Given the description of an element on the screen output the (x, y) to click on. 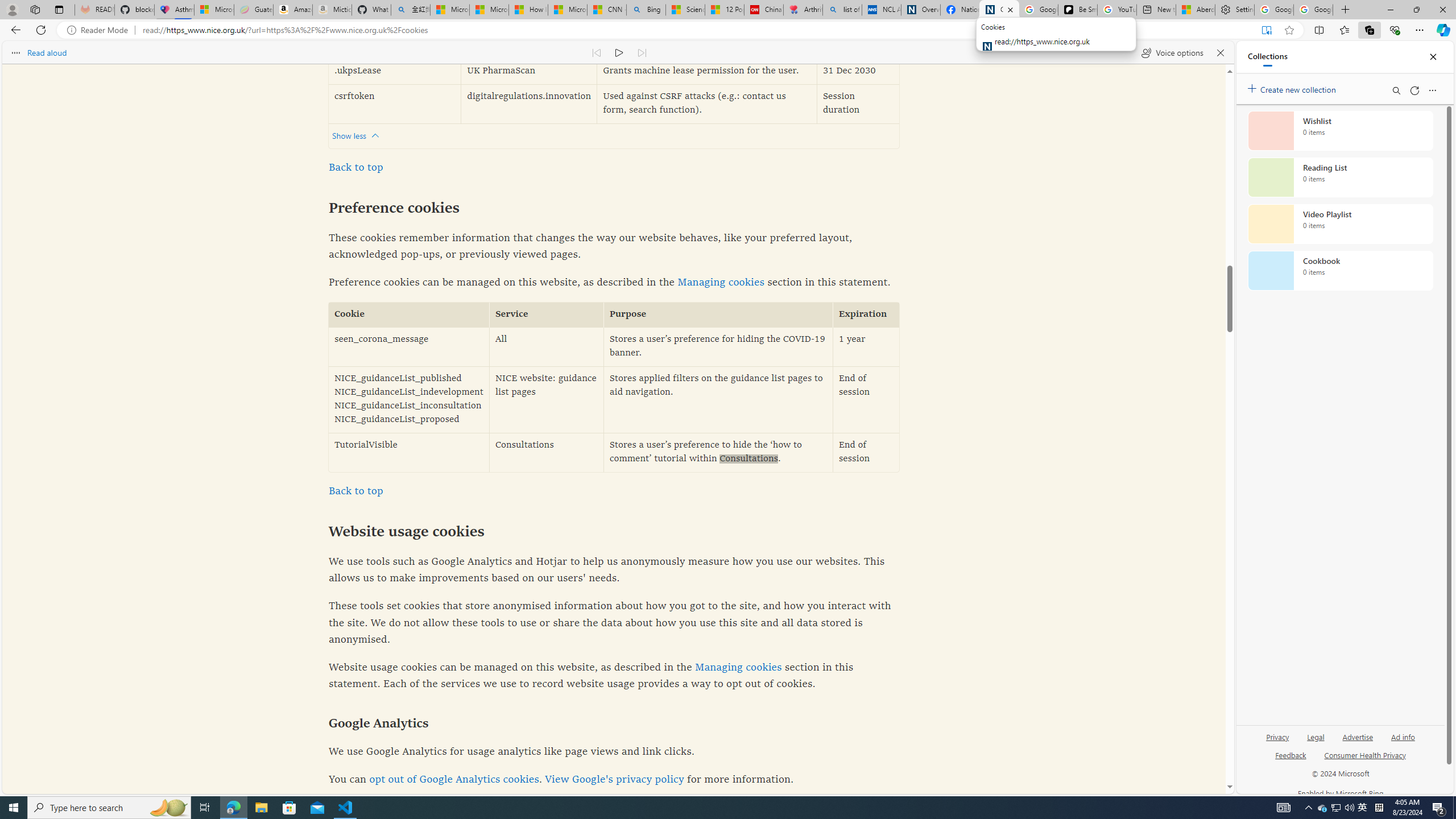
Session duration (857, 103)
Show less (357, 135)
opt out of Google Analytics cookies (453, 779)
Be Smart | creating Science videos | Patreon (1077, 9)
Advertise (1357, 736)
Cookbook collection, 0 items (1339, 270)
Managing cookies (737, 667)
Service (546, 315)
NCL Adult Asthma Inhaler Choice Guideline (881, 9)
Science - MSN (685, 9)
View Google's privacy policy (614, 779)
